Given the description of an element on the screen output the (x, y) to click on. 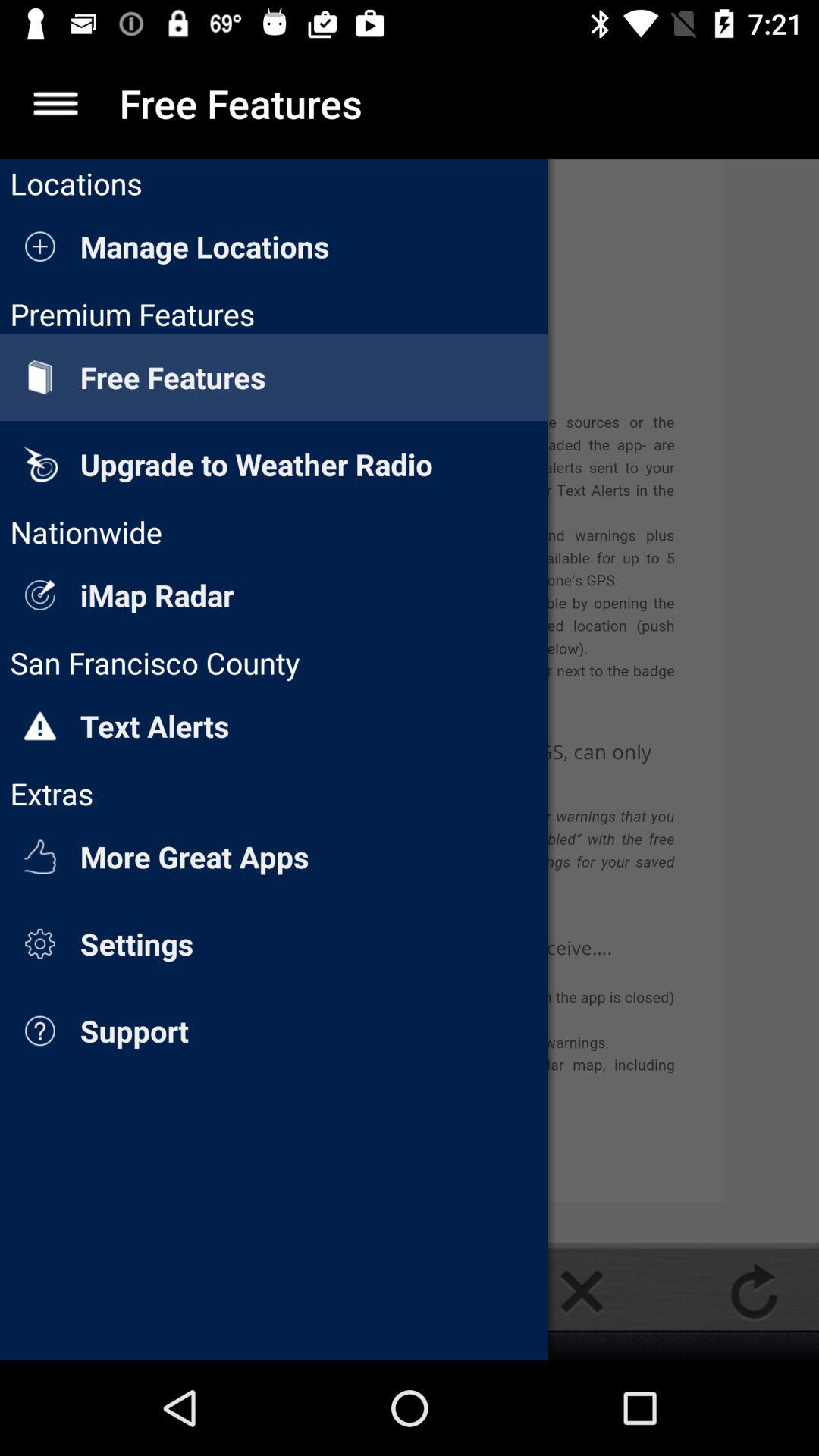
close (581, 1291)
